Given the description of an element on the screen output the (x, y) to click on. 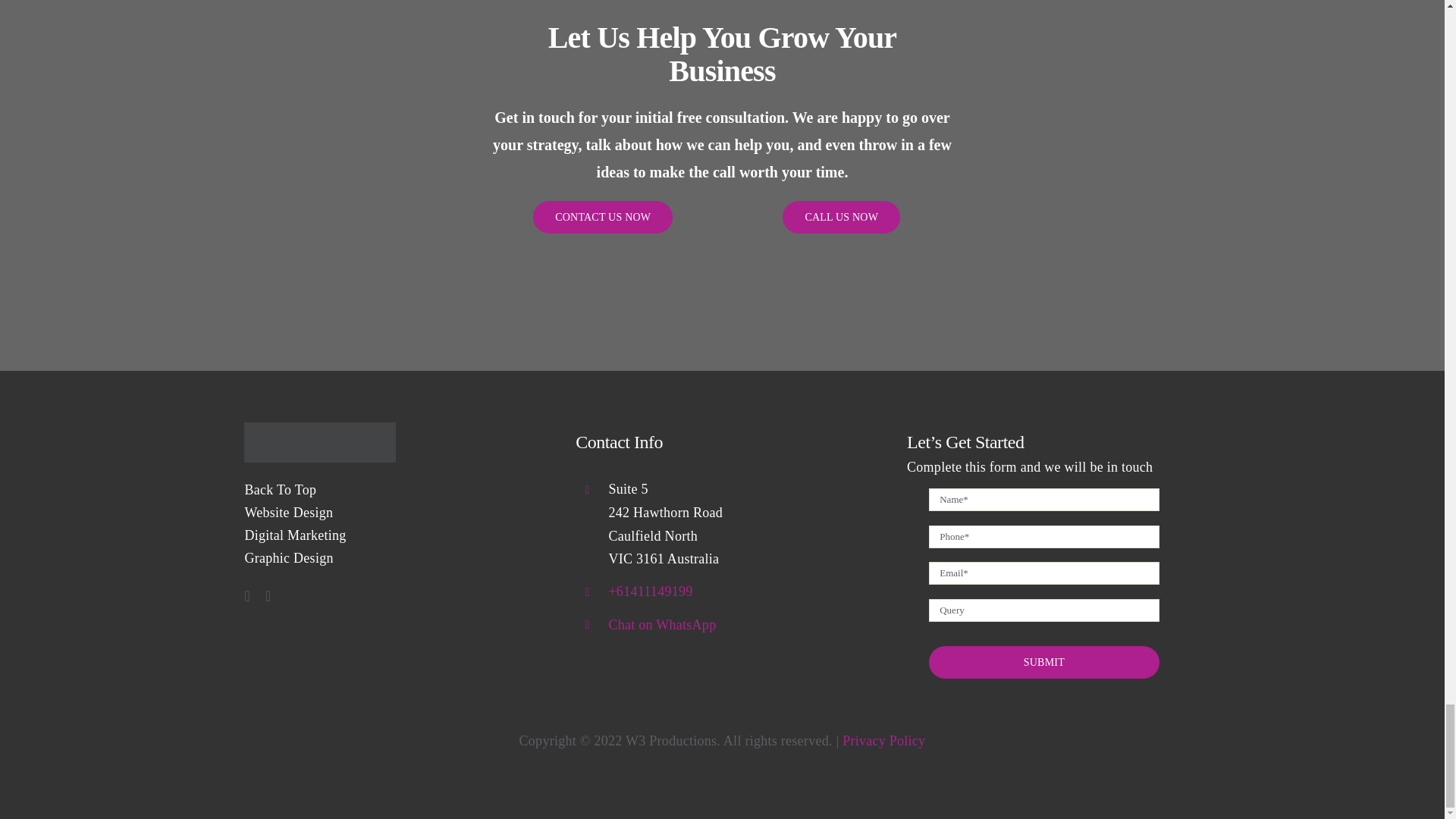
SUBMIT (1044, 582)
CONTACT US NOW (602, 216)
Website Design (390, 512)
SUBMIT (1043, 662)
Back To Top (390, 489)
Chat on WhatsApp (662, 624)
Graphic Design (390, 557)
Digital Marketing (390, 534)
CALL US NOW (841, 216)
Privacy Policy (883, 740)
